Given the description of an element on the screen output the (x, y) to click on. 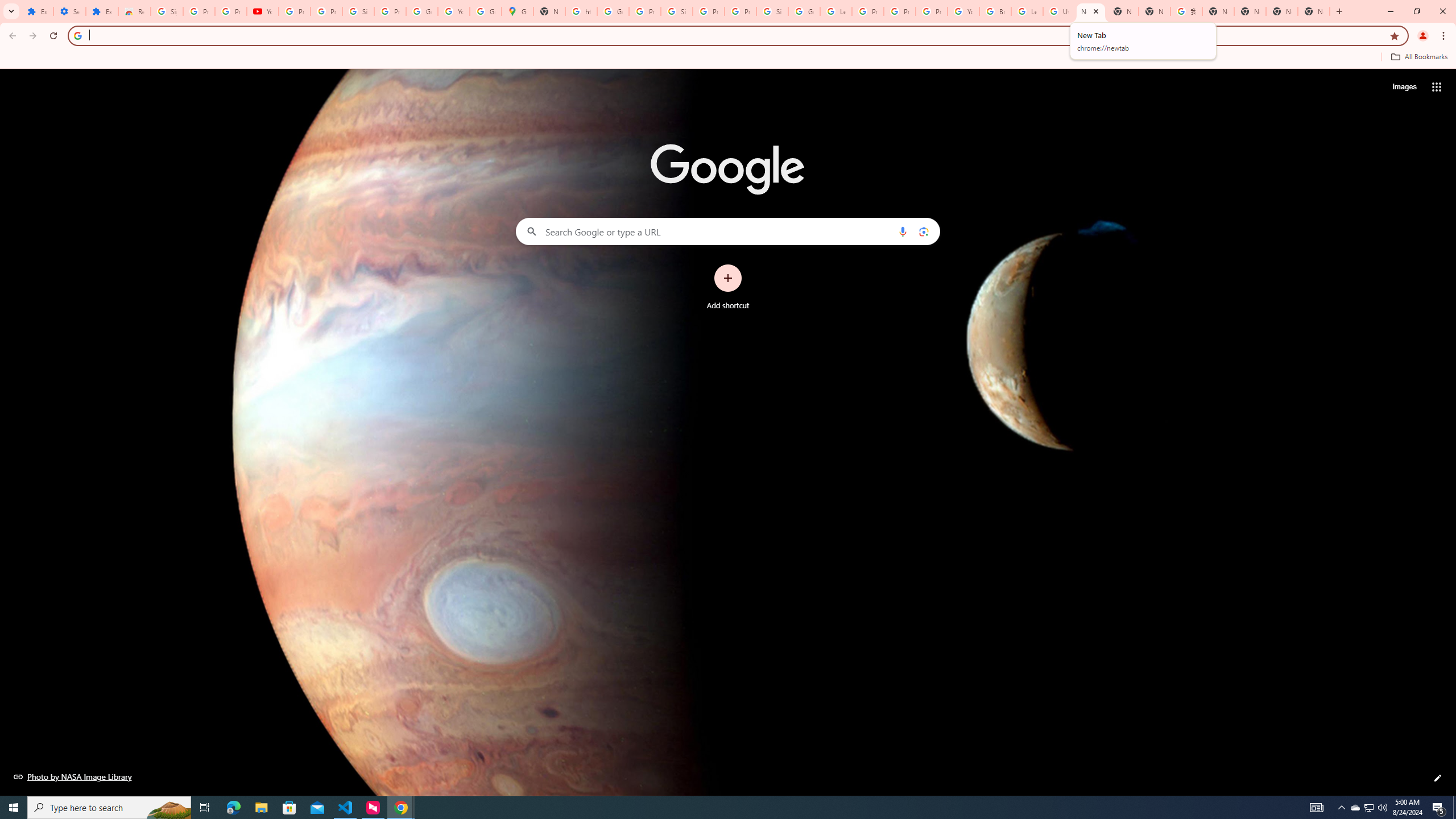
Privacy Help Center - Policies Help (868, 11)
YouTube (262, 11)
Google Maps (517, 11)
Reviews: Helix Fruit Jump Arcade Game (134, 11)
YouTube (963, 11)
